Given the description of an element on the screen output the (x, y) to click on. 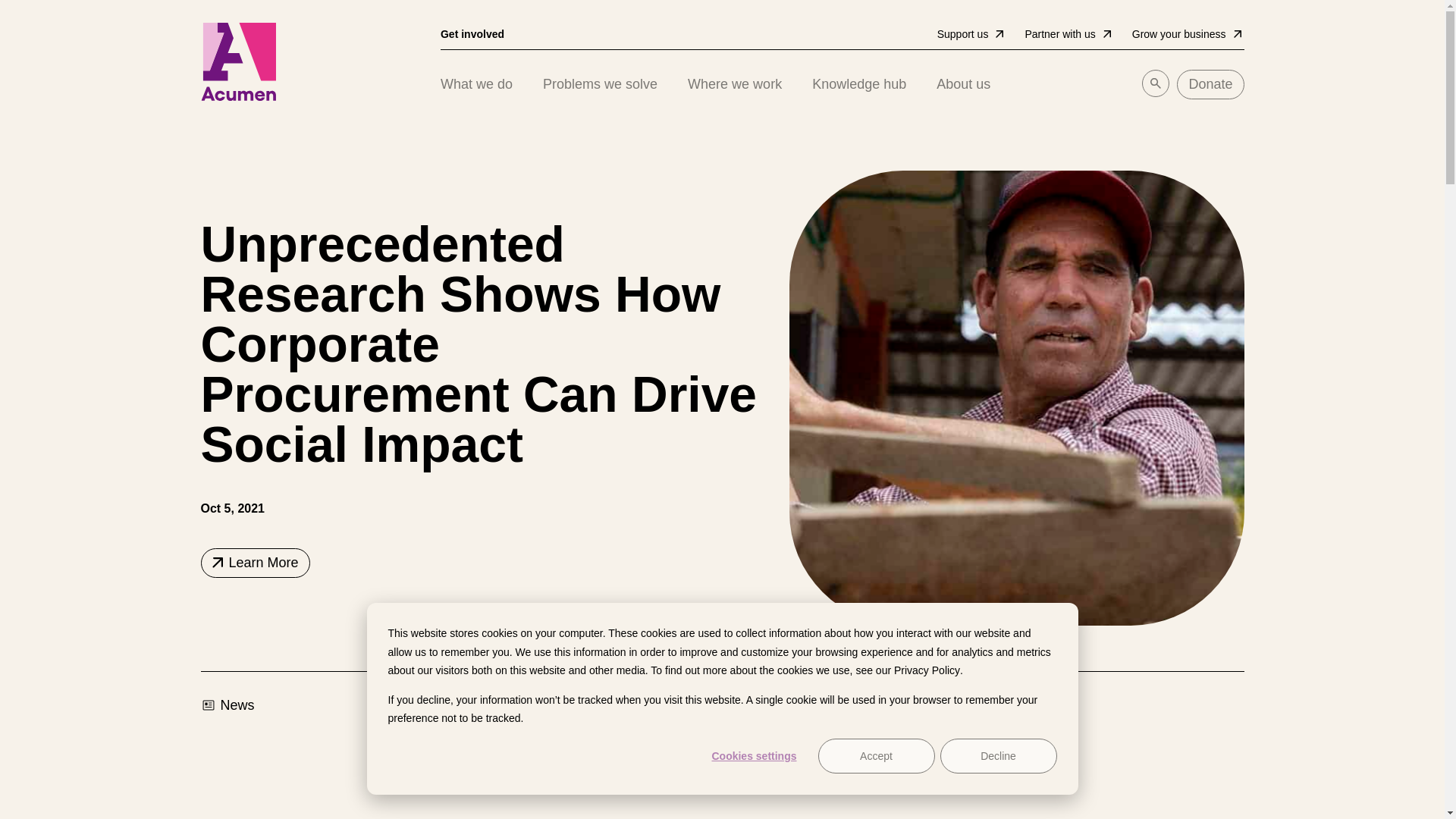
Support us (970, 33)
Privacy Policy (926, 670)
Partner with us (1067, 33)
About us (963, 82)
What we do (476, 82)
Where we work (734, 82)
Grow your business (1186, 33)
Knowledge hub (858, 82)
Donate (1209, 84)
Problems we solve (600, 82)
Learn More (254, 562)
